Given the description of an element on the screen output the (x, y) to click on. 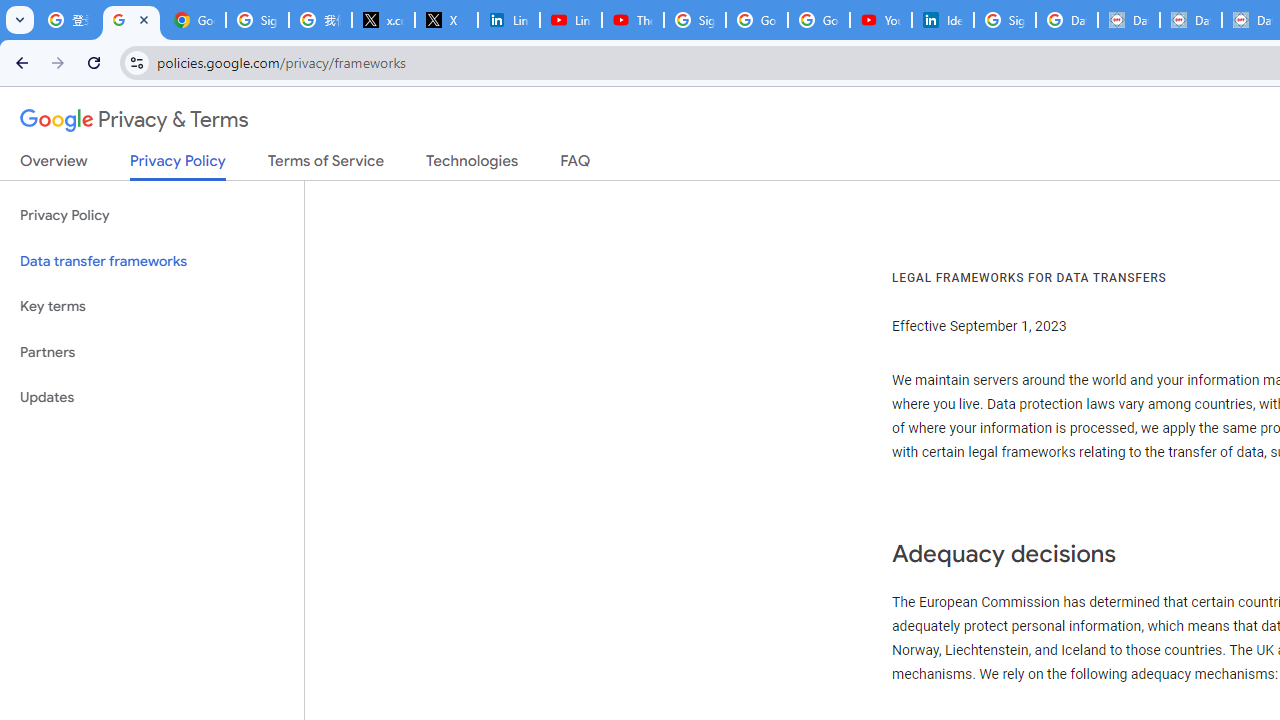
Sign in - Google Accounts (694, 20)
X (445, 20)
LinkedIn - YouTube (570, 20)
